Given the description of an element on the screen output the (x, y) to click on. 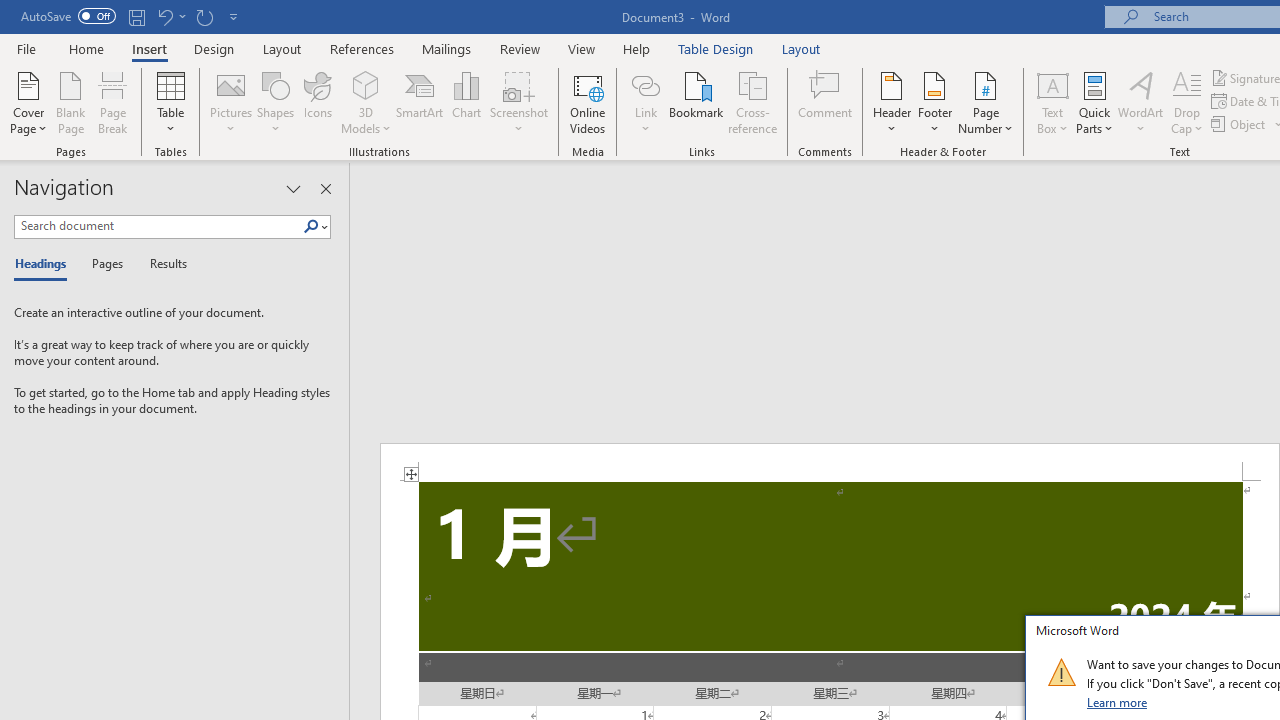
Chart... (466, 102)
Screenshot (518, 102)
SmartArt... (419, 102)
Pictures (230, 102)
Bookmark... (695, 102)
Undo Increase Indent (164, 15)
Icons (317, 102)
Text Box (1052, 102)
